Given the description of an element on the screen output the (x, y) to click on. 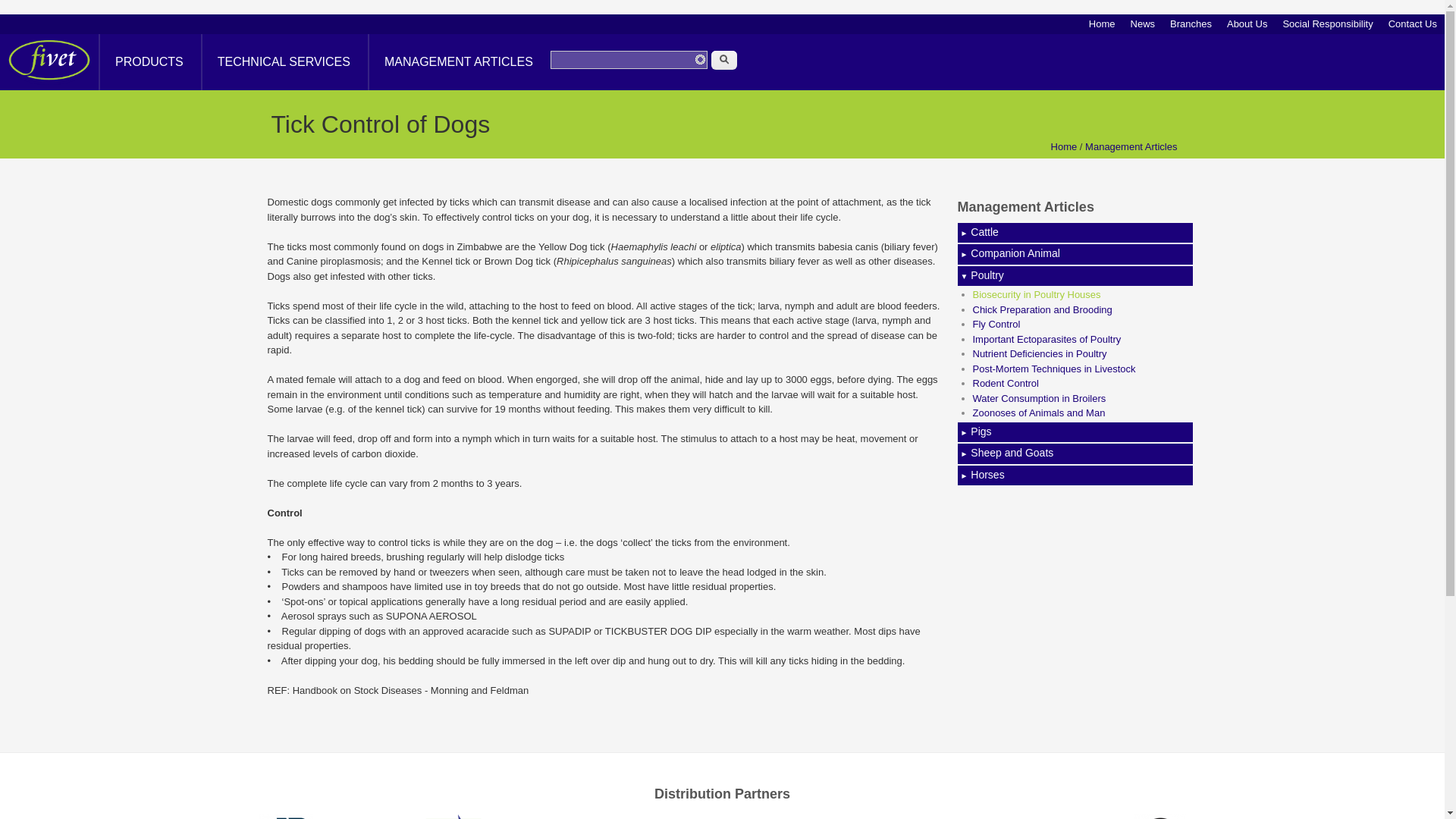
Home (1064, 146)
Enter the terms you wish to search for. (628, 59)
News (1142, 24)
MANAGEMENT ARTICLES (458, 62)
Home (1101, 24)
PRODUCTS (148, 62)
Branches (1190, 24)
TECHNICAL SERVICES (282, 62)
About Us (1247, 24)
Management Articles (1130, 146)
Search (723, 59)
Home (53, 82)
Social Responsibility (1327, 24)
Search (723, 59)
